Given the description of an element on the screen output the (x, y) to click on. 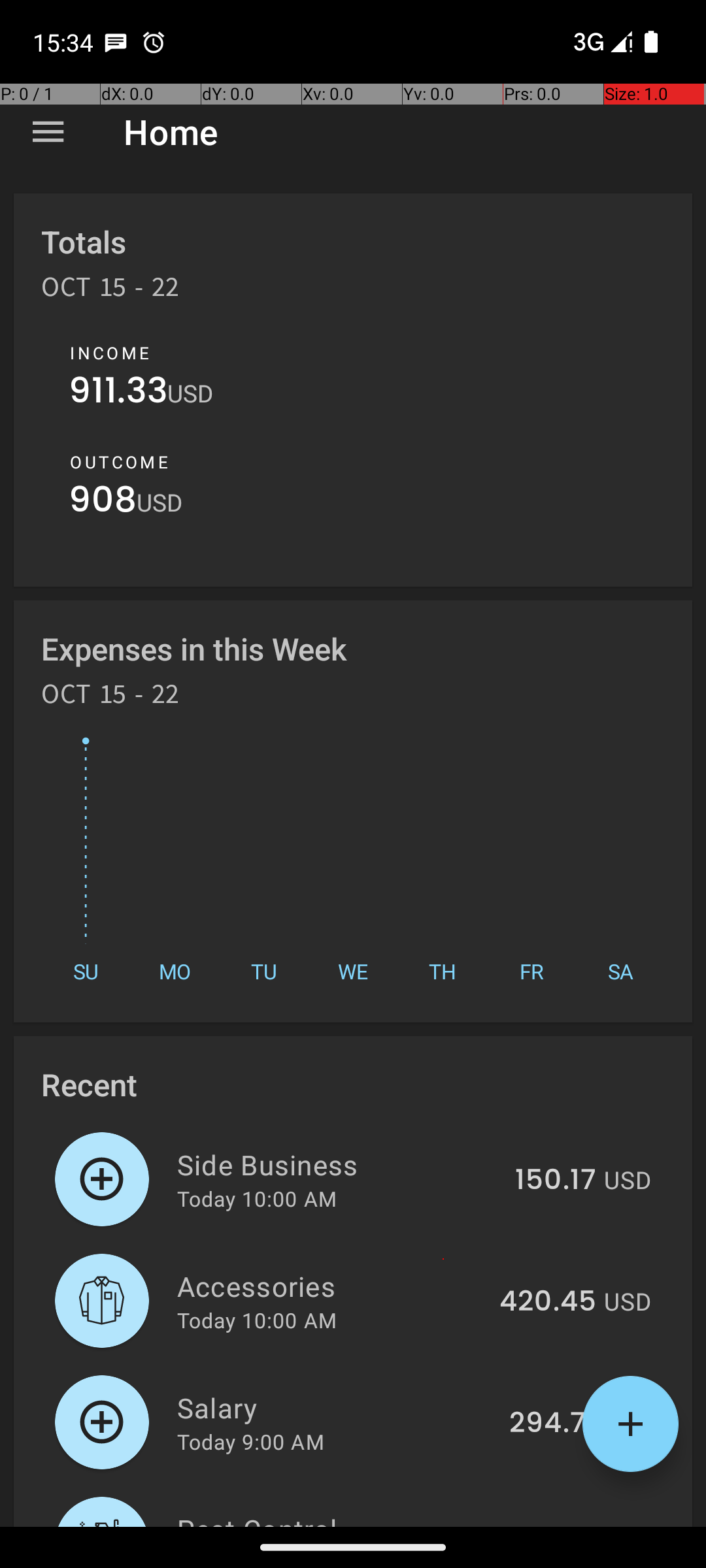
911.33 Element type: android.widget.TextView (117, 393)
908 Element type: android.widget.TextView (102, 502)
Side Business Element type: android.widget.TextView (338, 1164)
Today 10:00 AM Element type: android.widget.TextView (256, 1198)
150.17 Element type: android.widget.TextView (555, 1180)
Accessories Element type: android.widget.TextView (330, 1285)
420.45 Element type: android.widget.TextView (547, 1301)
Salary Element type: android.widget.TextView (335, 1407)
294.71 Element type: android.widget.TextView (552, 1423)
125.06 Element type: android.widget.TextView (551, 1524)
